Given the description of an element on the screen output the (x, y) to click on. 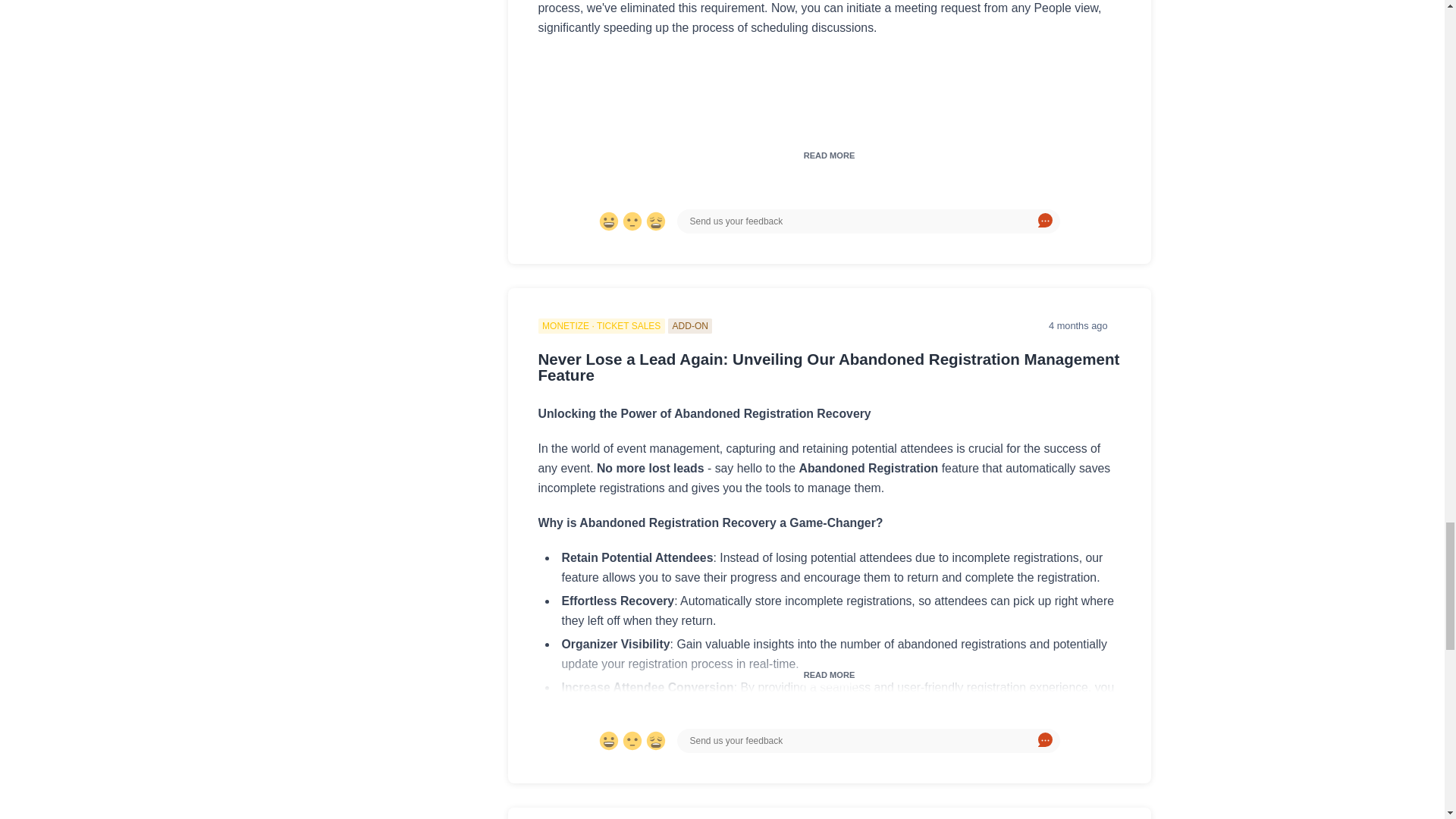
Submit Button (1044, 740)
Submit Button (1044, 221)
